Given the description of an element on the screen output the (x, y) to click on. 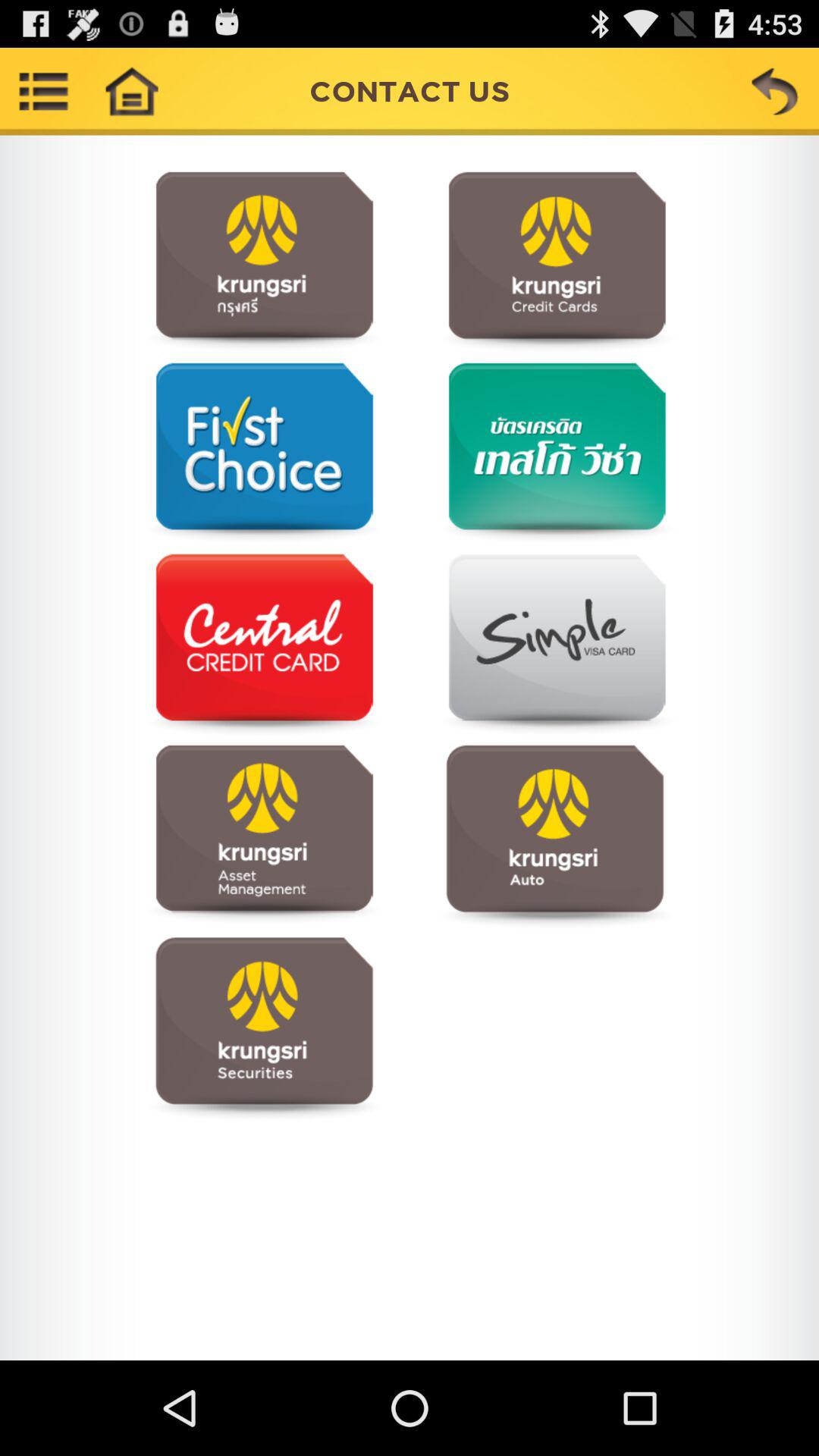
view contact information (263, 644)
